Given the description of an element on the screen output the (x, y) to click on. 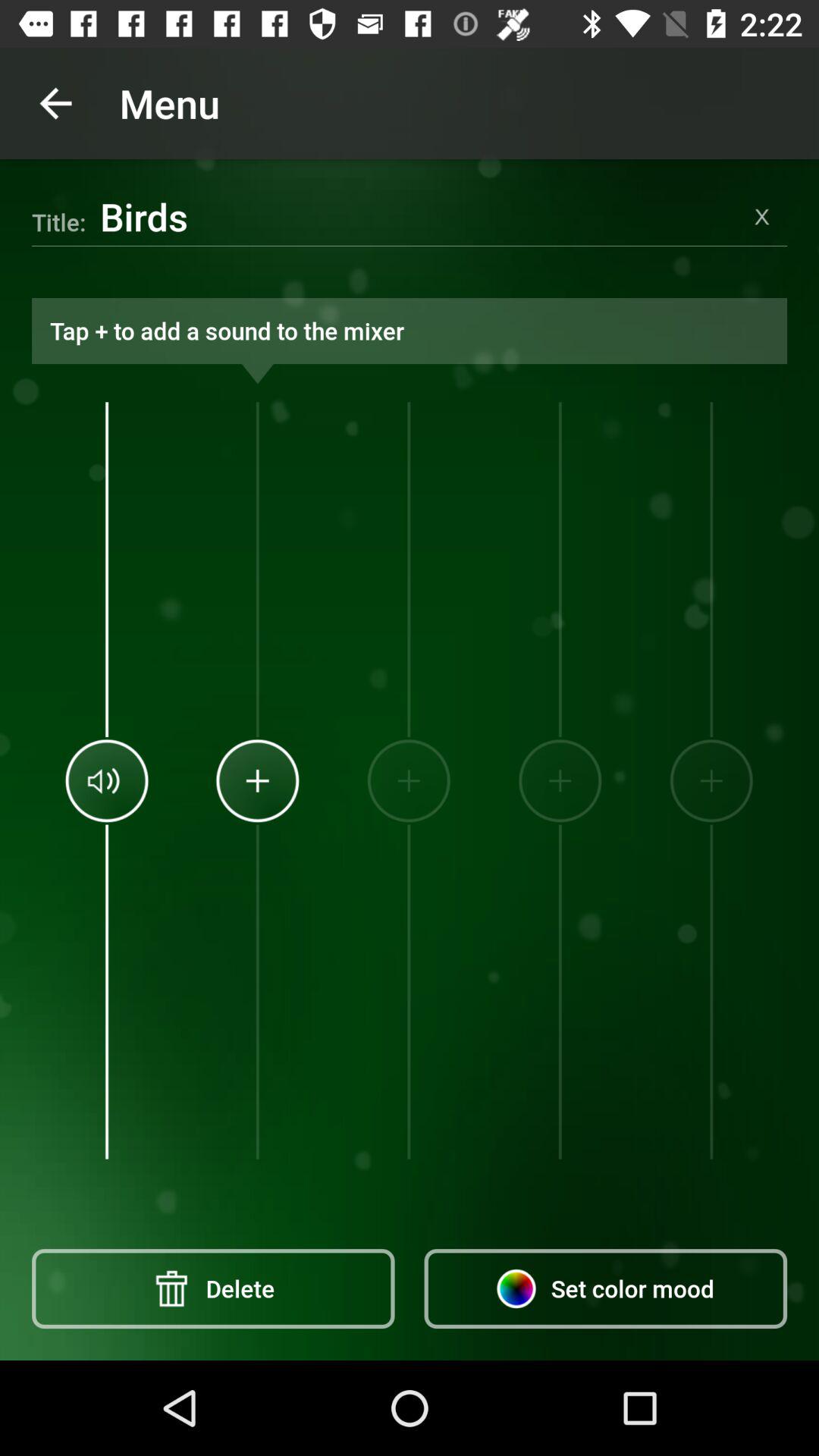
choose item at the top right corner (762, 216)
